Given the description of an element on the screen output the (x, y) to click on. 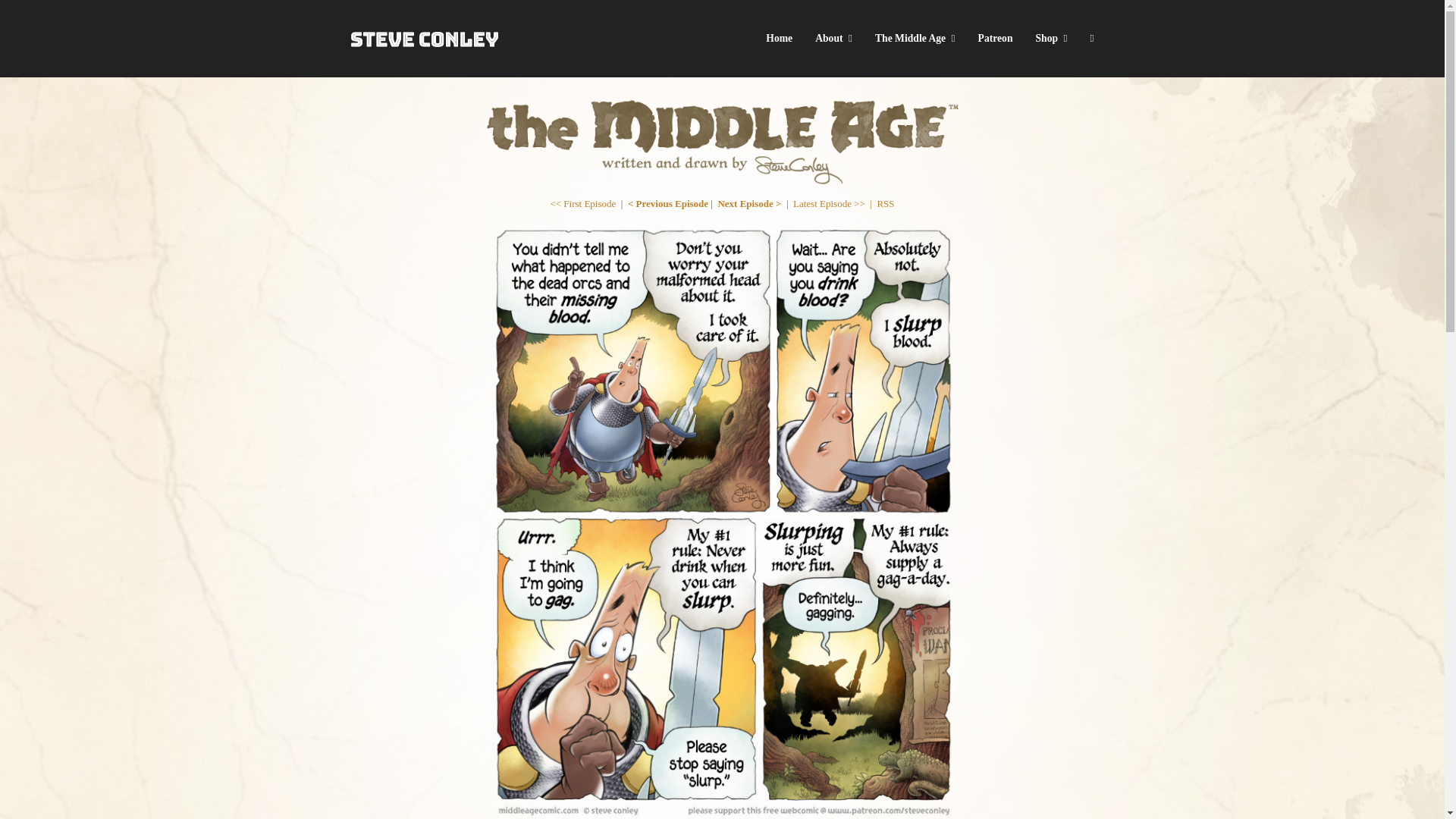
The Middle Age (914, 38)
About (833, 38)
Patreon (995, 38)
Home (778, 38)
Shop (1051, 38)
RSS (884, 203)
